Given the description of an element on the screen output the (x, y) to click on. 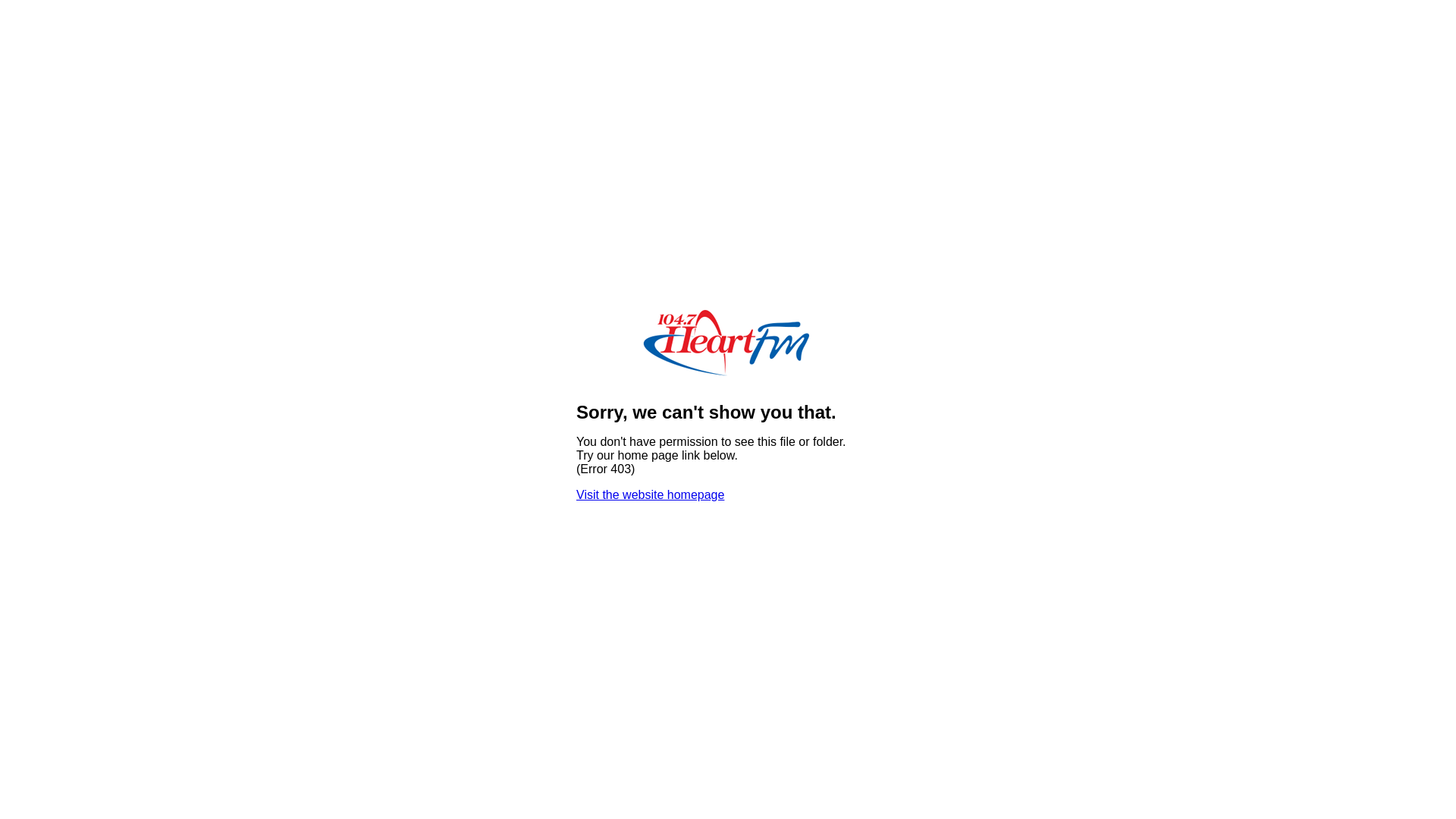
Visit the website homepage Element type: text (650, 494)
